Given the description of an element on the screen output the (x, y) to click on. 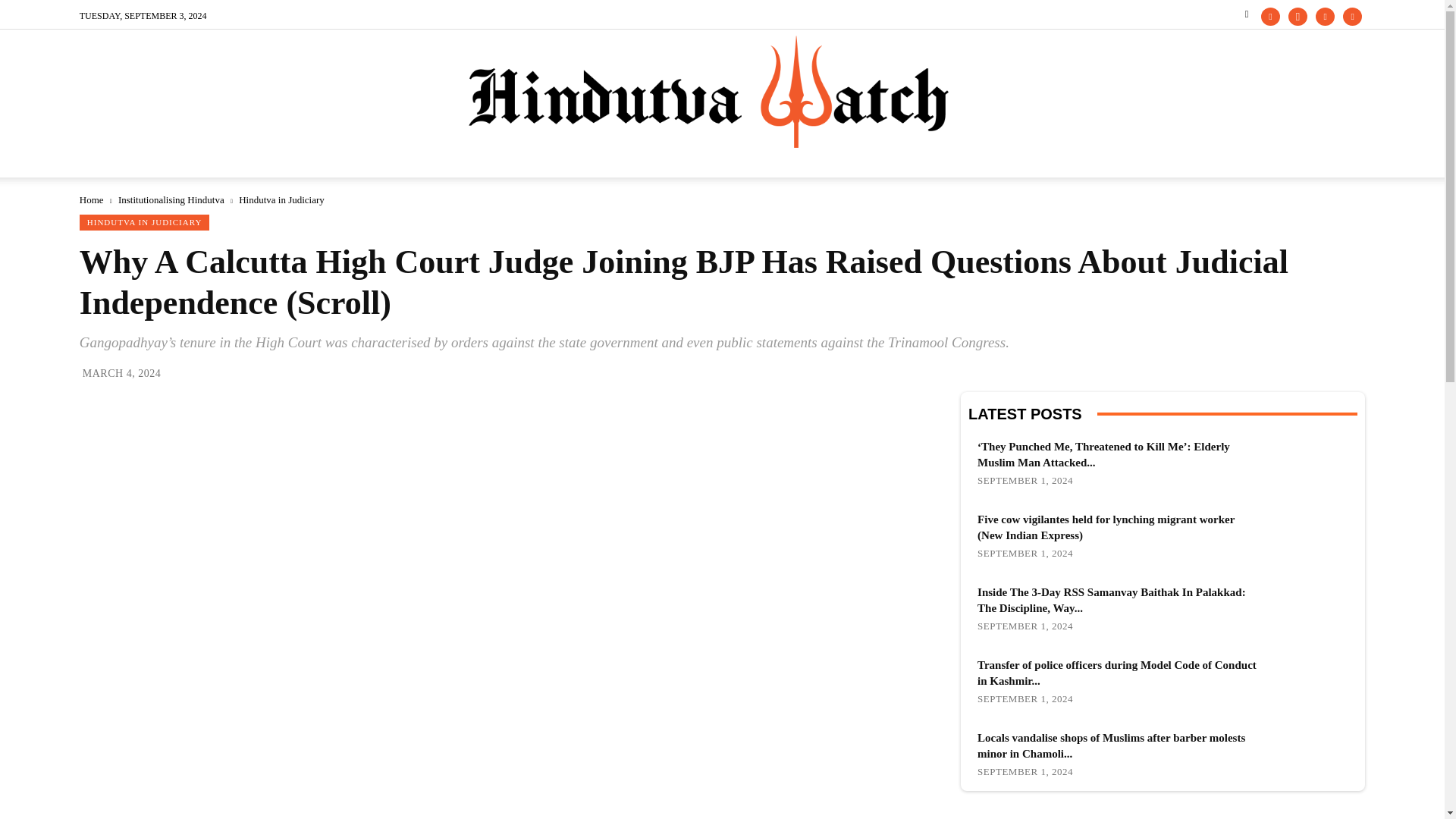
Youtube (1351, 16)
Search (1322, 71)
Twitter (1325, 16)
Facebook (1269, 16)
Instagram (1297, 16)
View all posts in Institutionalising Hindutva (170, 199)
